Given the description of an element on the screen output the (x, y) to click on. 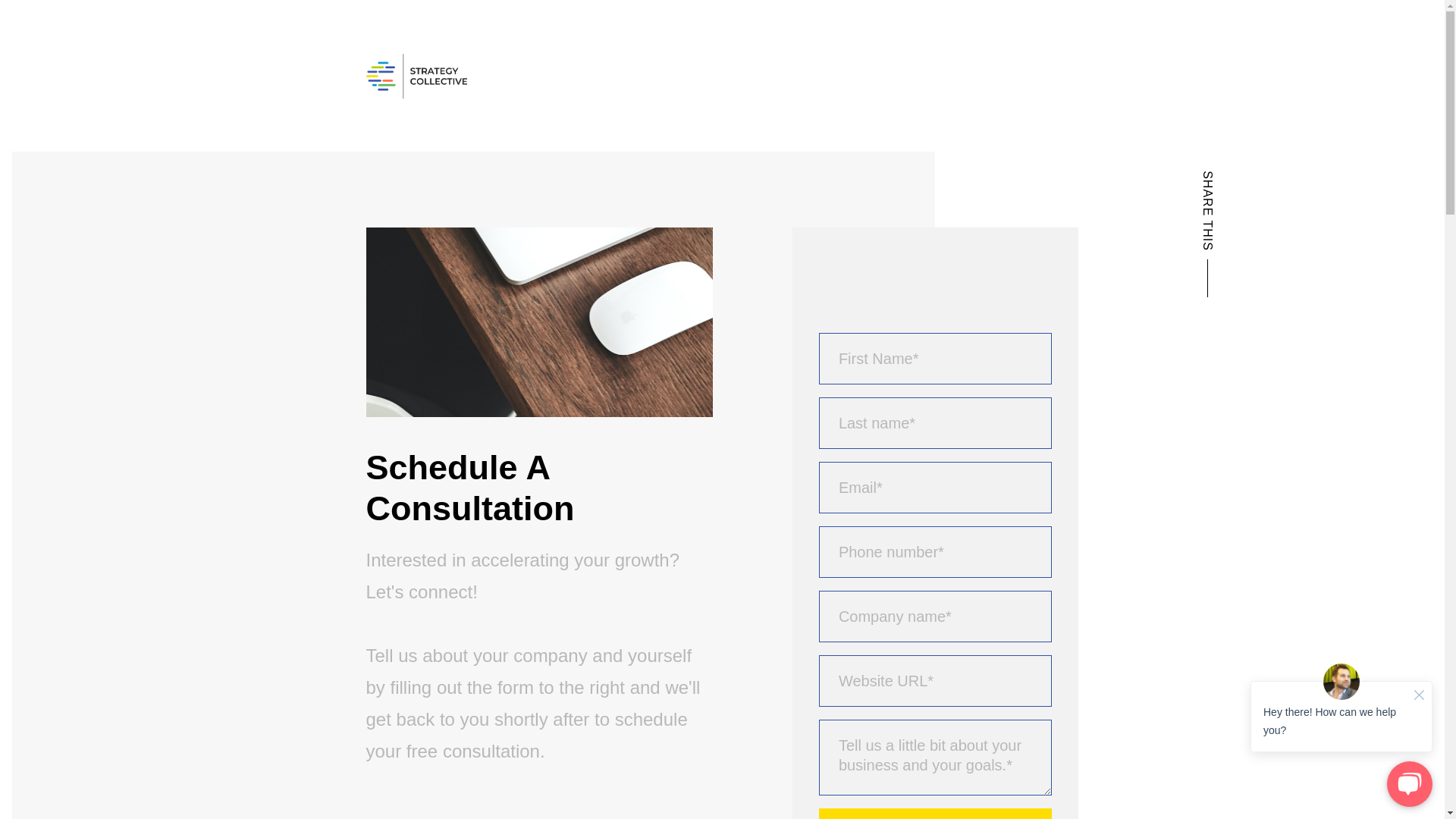
Strategy-Collective-multilocation-marketing-consultants (415, 76)
Send (935, 813)
Send (935, 813)
